Given the description of an element on the screen output the (x, y) to click on. 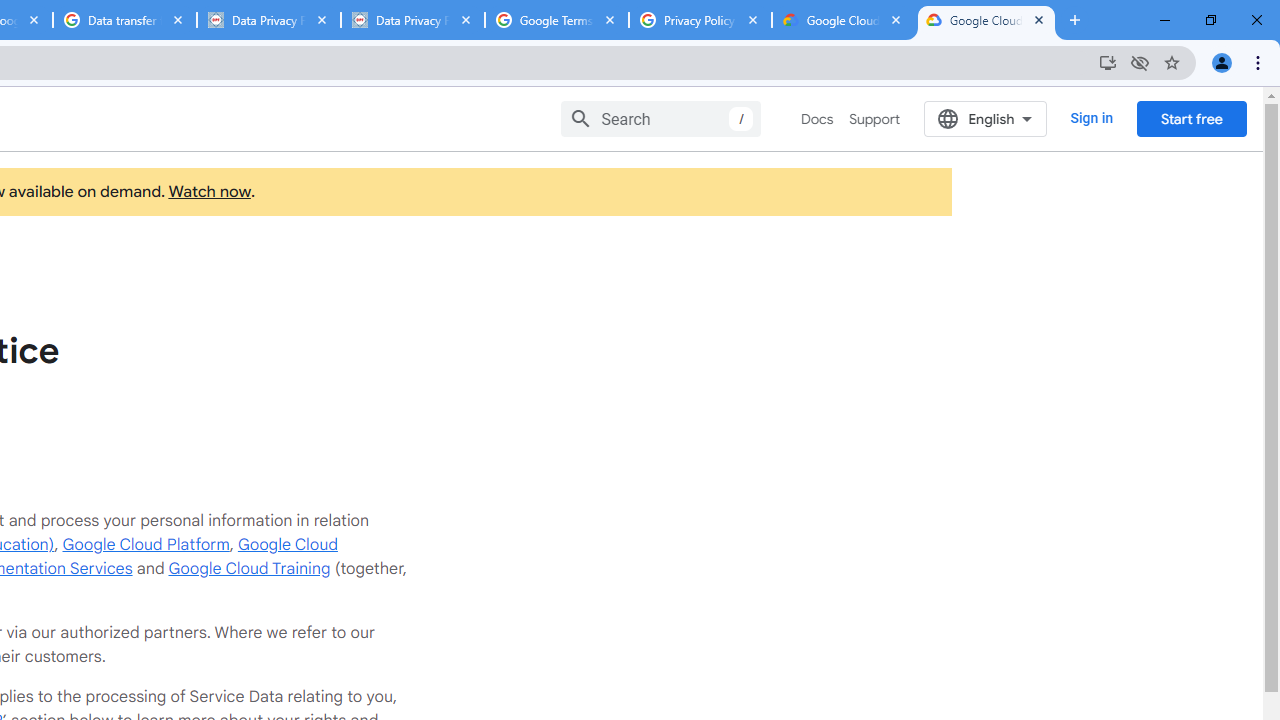
Docs (817, 119)
Watch now (208, 192)
Support (874, 119)
Google Cloud Training (249, 568)
Google Cloud Platform (145, 544)
Start free (1191, 118)
Google Cloud Privacy Notice (843, 20)
